Given the description of an element on the screen output the (x, y) to click on. 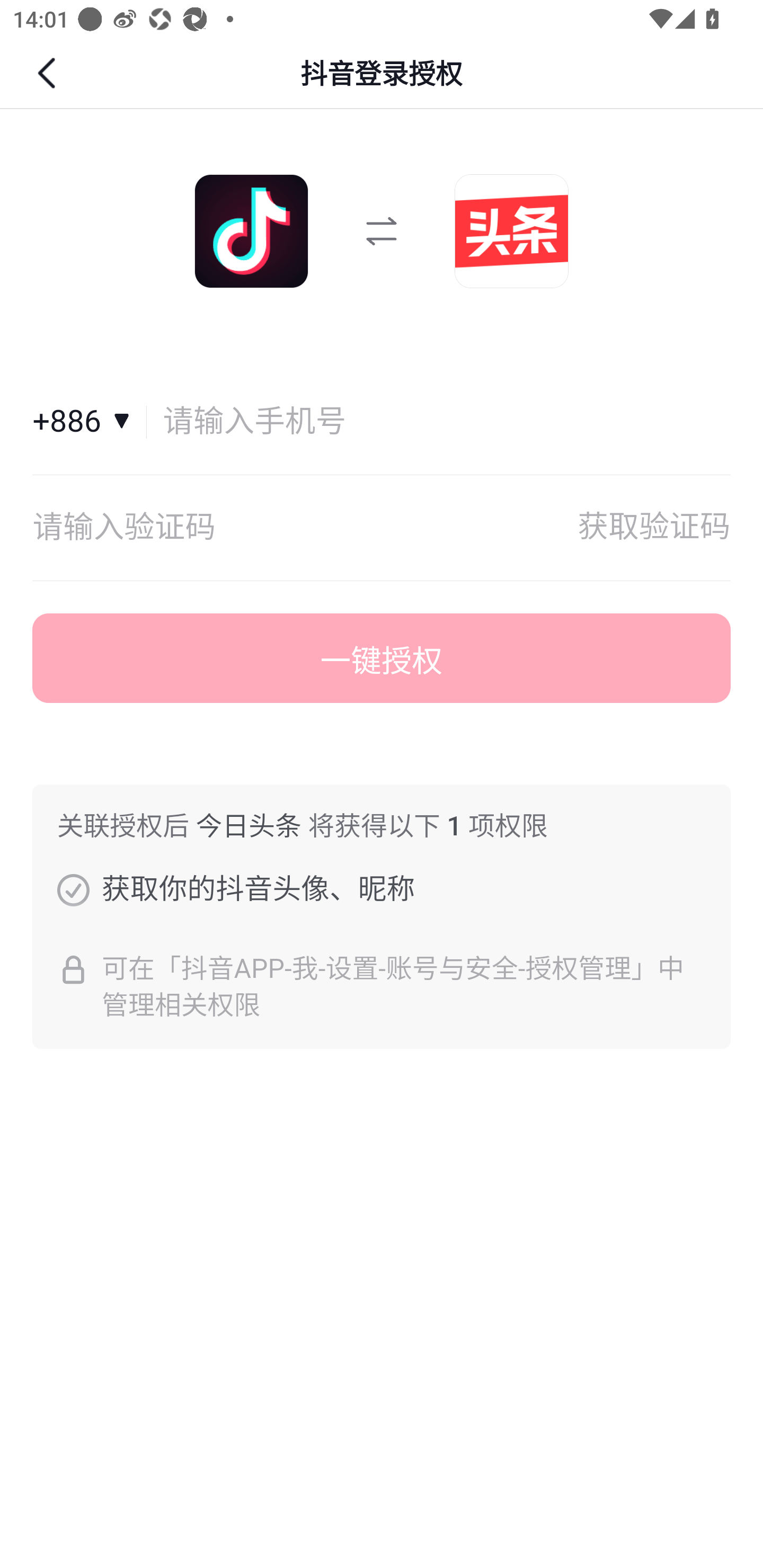
返回 (49, 72)
国家和地区+886 (90, 421)
获取验证码 (653, 527)
一键授权 (381, 658)
获取你的抖音头像、昵称 (72, 889)
